Given the description of an element on the screen output the (x, y) to click on. 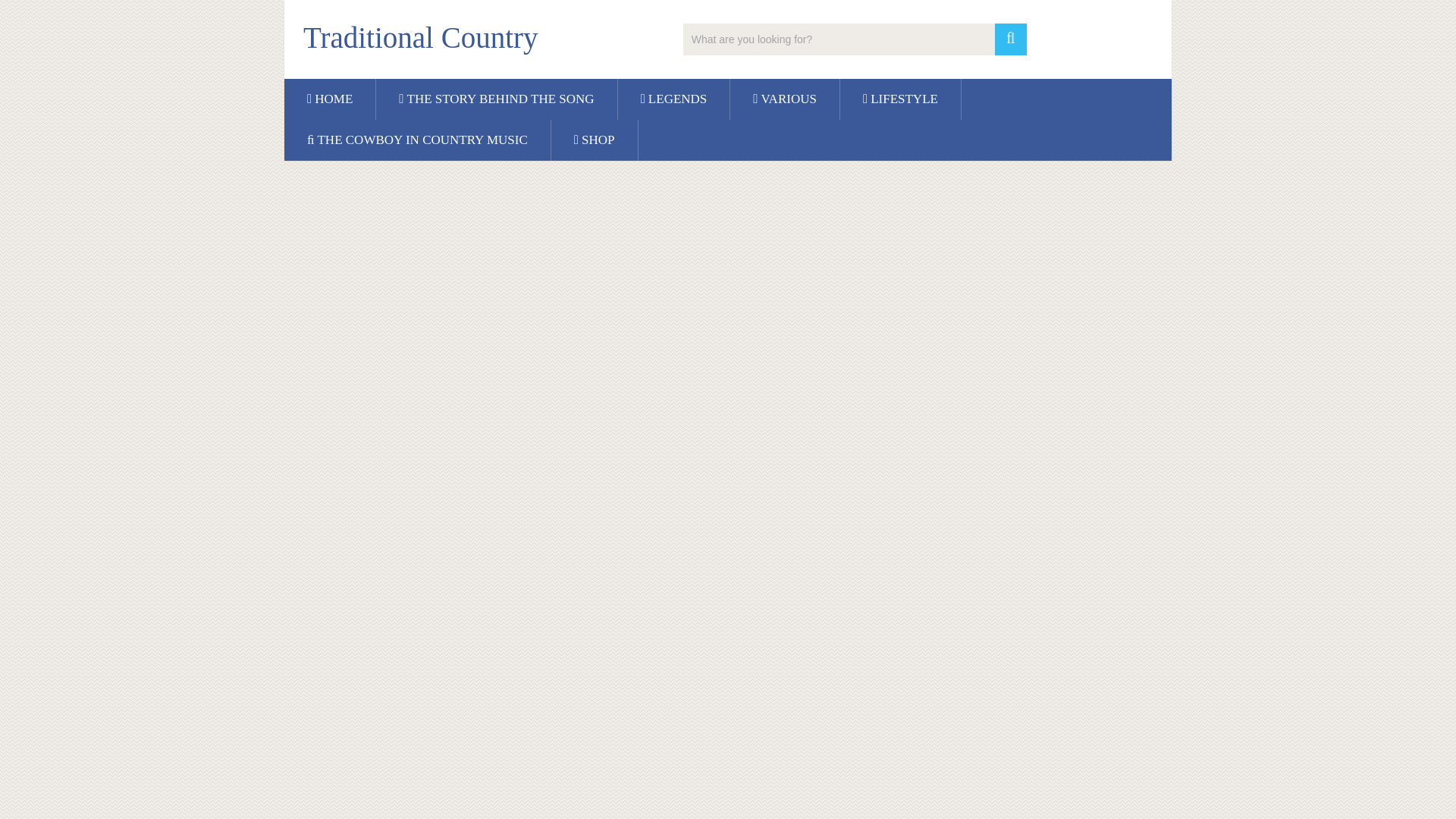
LIFESTYLE (900, 98)
LEGENDS (673, 98)
THE STORY BEHIND THE SONG (495, 98)
HOME (329, 98)
Traditional Country (420, 37)
VARIOUS (785, 98)
